Given the description of an element on the screen output the (x, y) to click on. 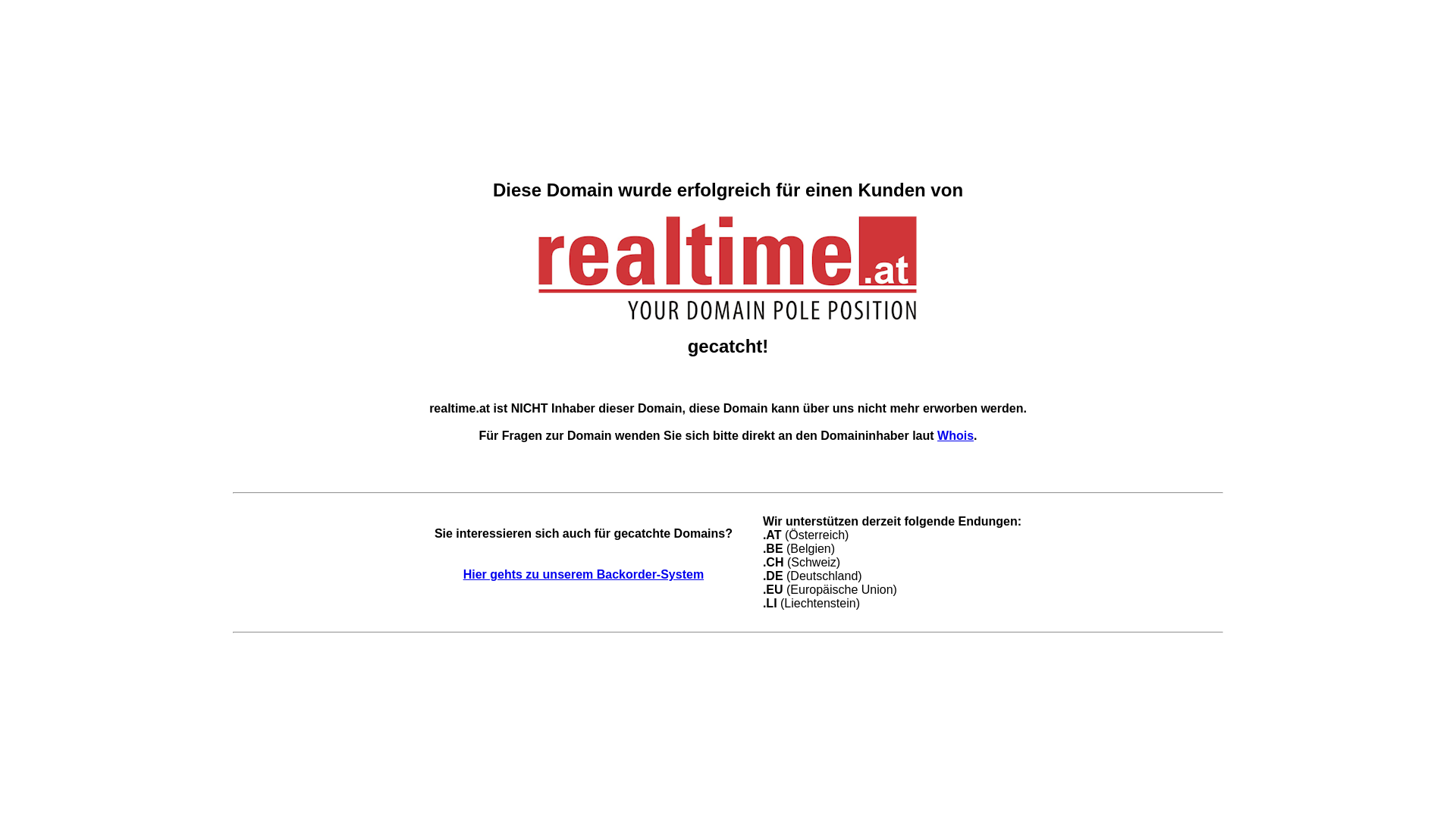
Hier gehts zu unserem Backorder-System Element type: text (583, 573)
Whois Element type: text (955, 435)
